Given the description of an element on the screen output the (x, y) to click on. 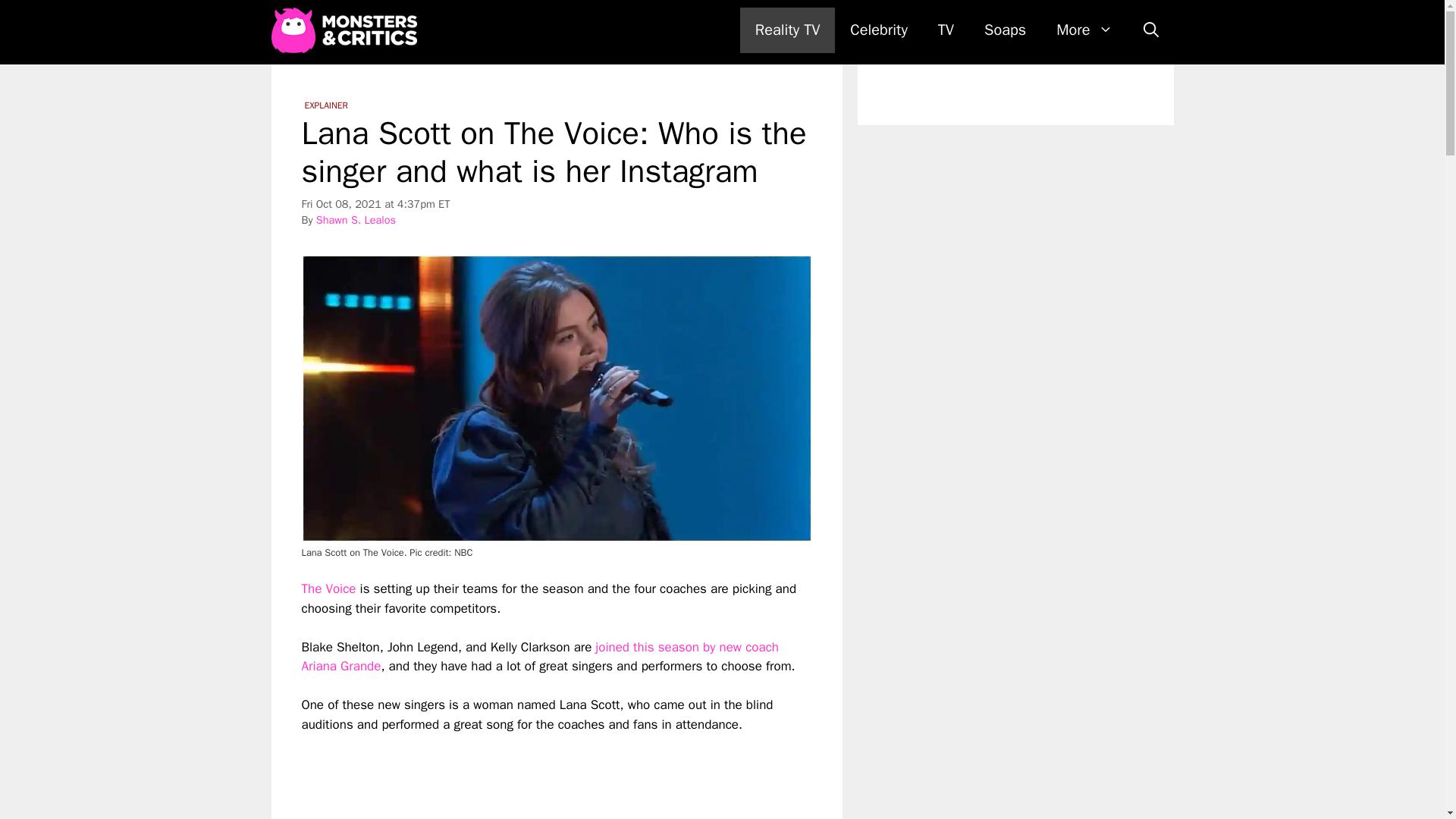
YouTube video player (513, 776)
TV (946, 30)
Shawn S. Lealos (355, 219)
Monsters and Critics (343, 30)
Reality TV (787, 30)
Celebrity (877, 30)
More (1083, 30)
Monsters and Critics (347, 30)
The Voice (328, 588)
View all posts by Shawn S. Lealos (355, 219)
